Given the description of an element on the screen output the (x, y) to click on. 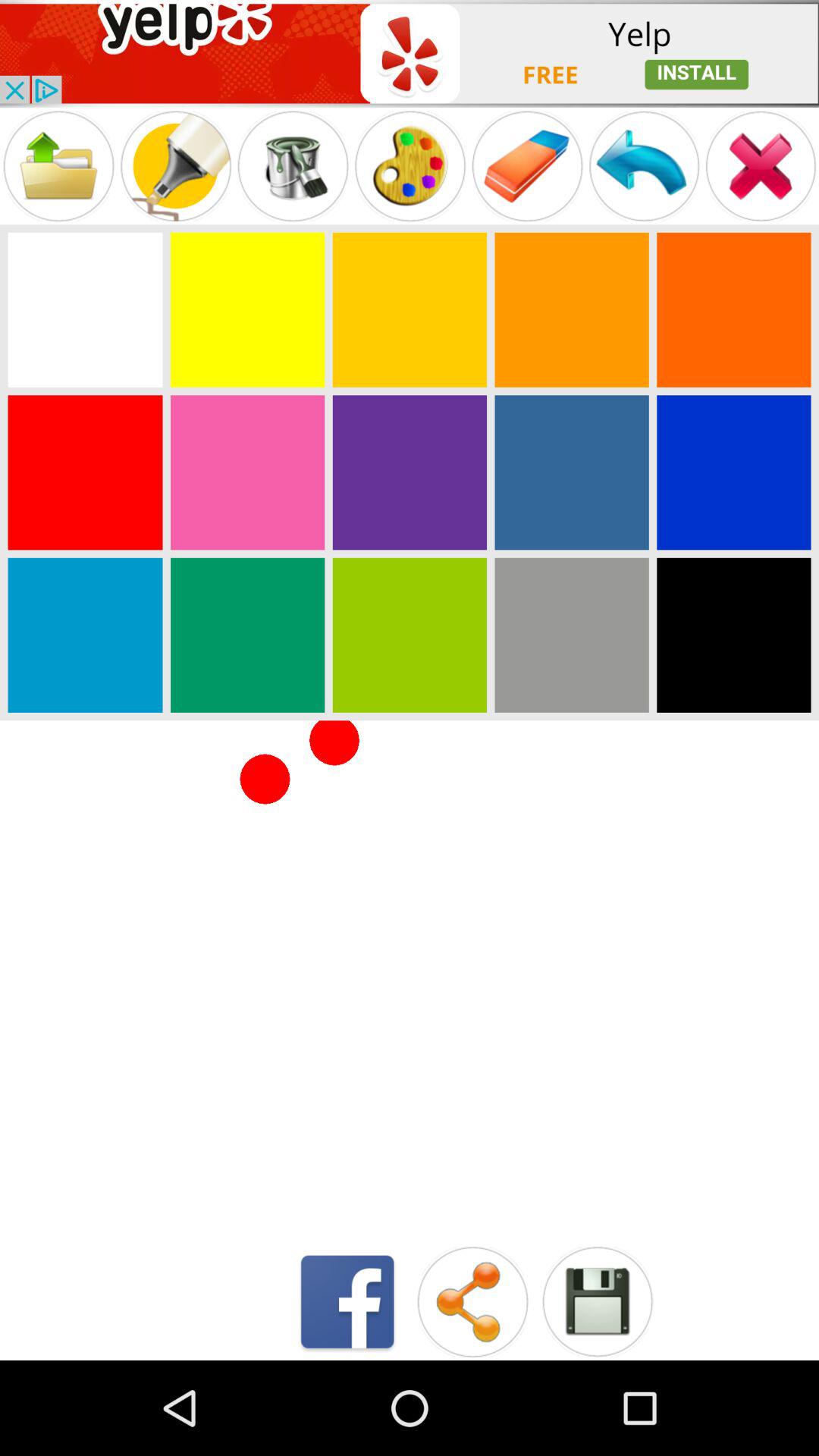
use this colour (247, 472)
